Given the description of an element on the screen output the (x, y) to click on. 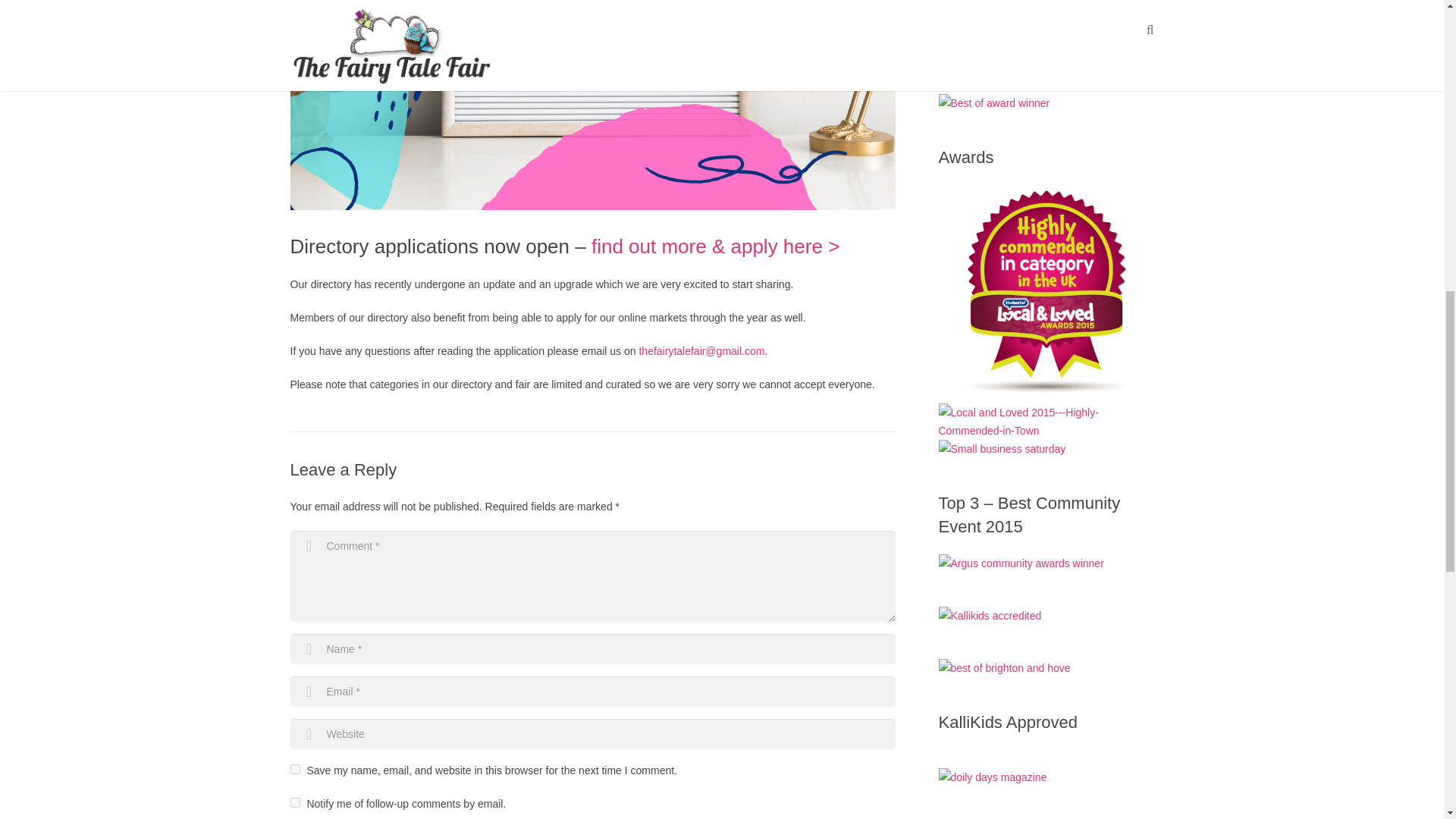
subscribe (294, 802)
Back to top (1413, 20)
yes (294, 768)
